Given the description of an element on the screen output the (x, y) to click on. 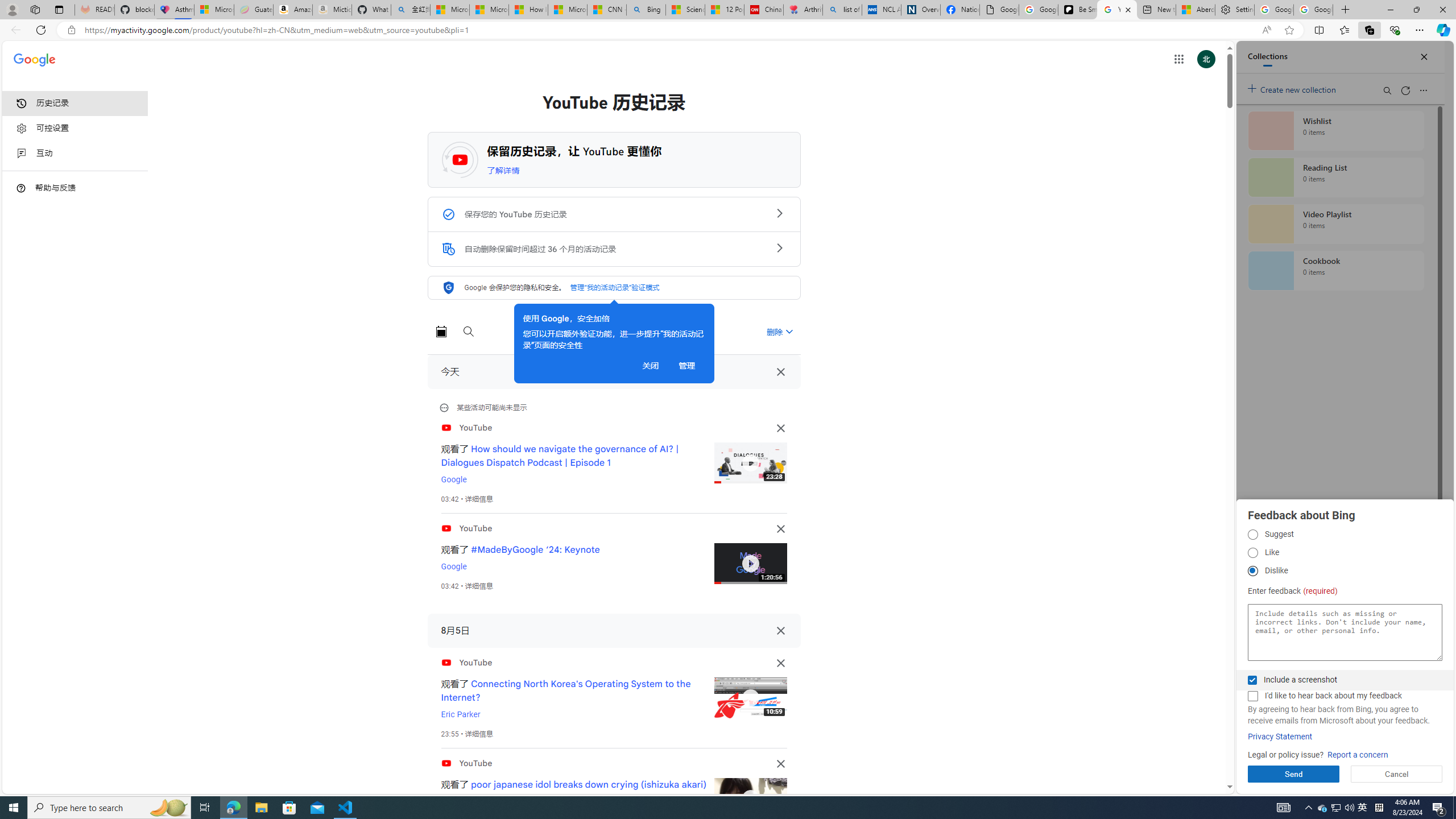
AutomationID: fbpgdgtp1 (1252, 534)
Class: i2GIId (21, 153)
Class: asE2Ub NMm5M (788, 331)
Class: gb_E (1178, 59)
Include a screenshot Include a screenshot (1251, 679)
